Given the description of an element on the screen output the (x, y) to click on. 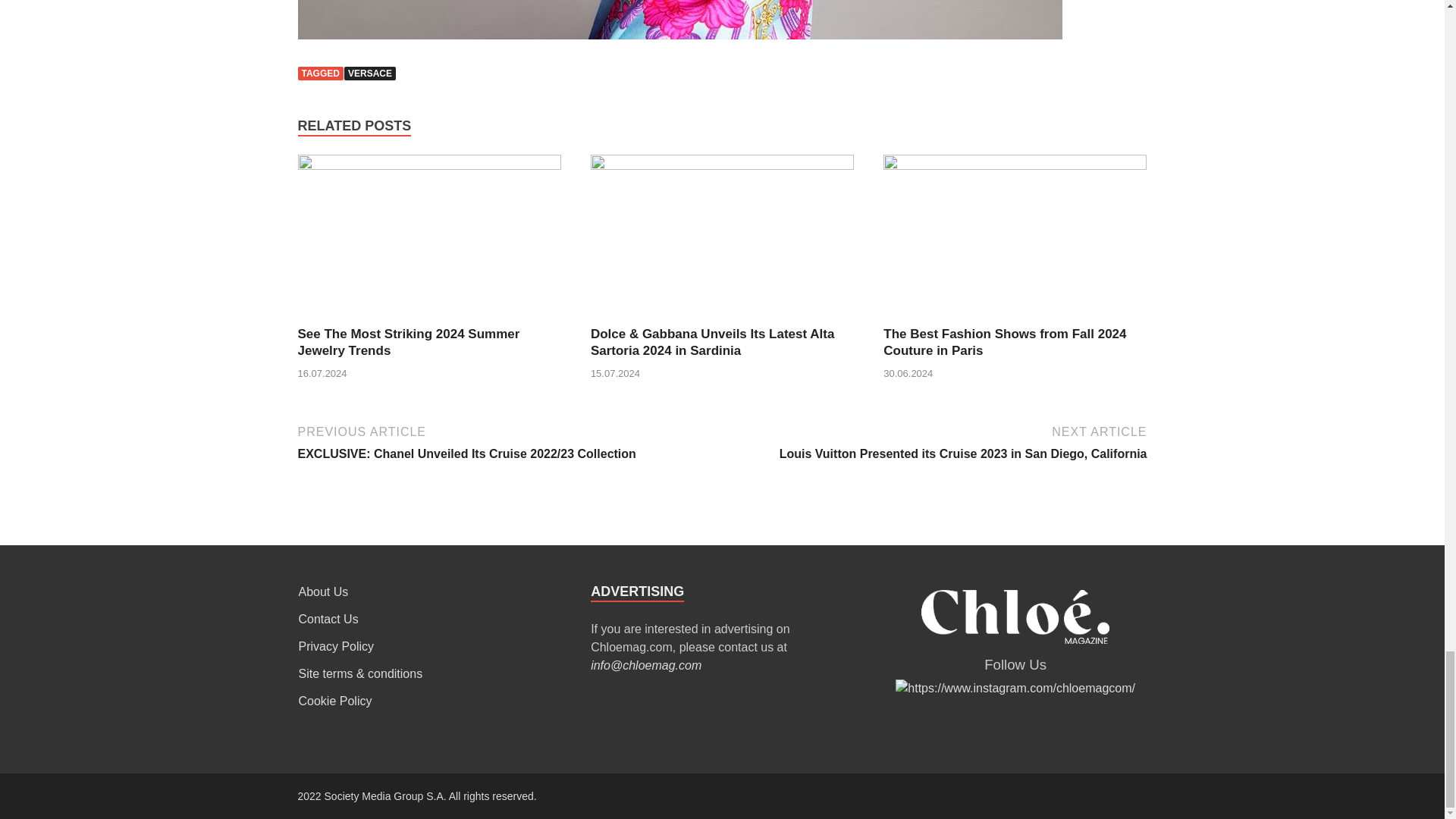
The Best Fashion Shows from Fall 2024 Couture in Paris (1004, 341)
Cookie Policy (335, 700)
See The Most Striking 2024 Summer Jewelry Trends (428, 164)
See The Most Striking 2024 Summer Jewelry Trends (408, 341)
Privacy Policy (336, 645)
The Best Fashion Shows from Fall 2024 Couture in Paris (1004, 341)
About Us (323, 591)
See The Most Striking 2024 Summer Jewelry Trends (408, 341)
VERSACE (369, 73)
Contact Us (328, 618)
The Best Fashion Shows from Fall 2024 Couture in Paris (1015, 164)
